Given the description of an element on the screen output the (x, y) to click on. 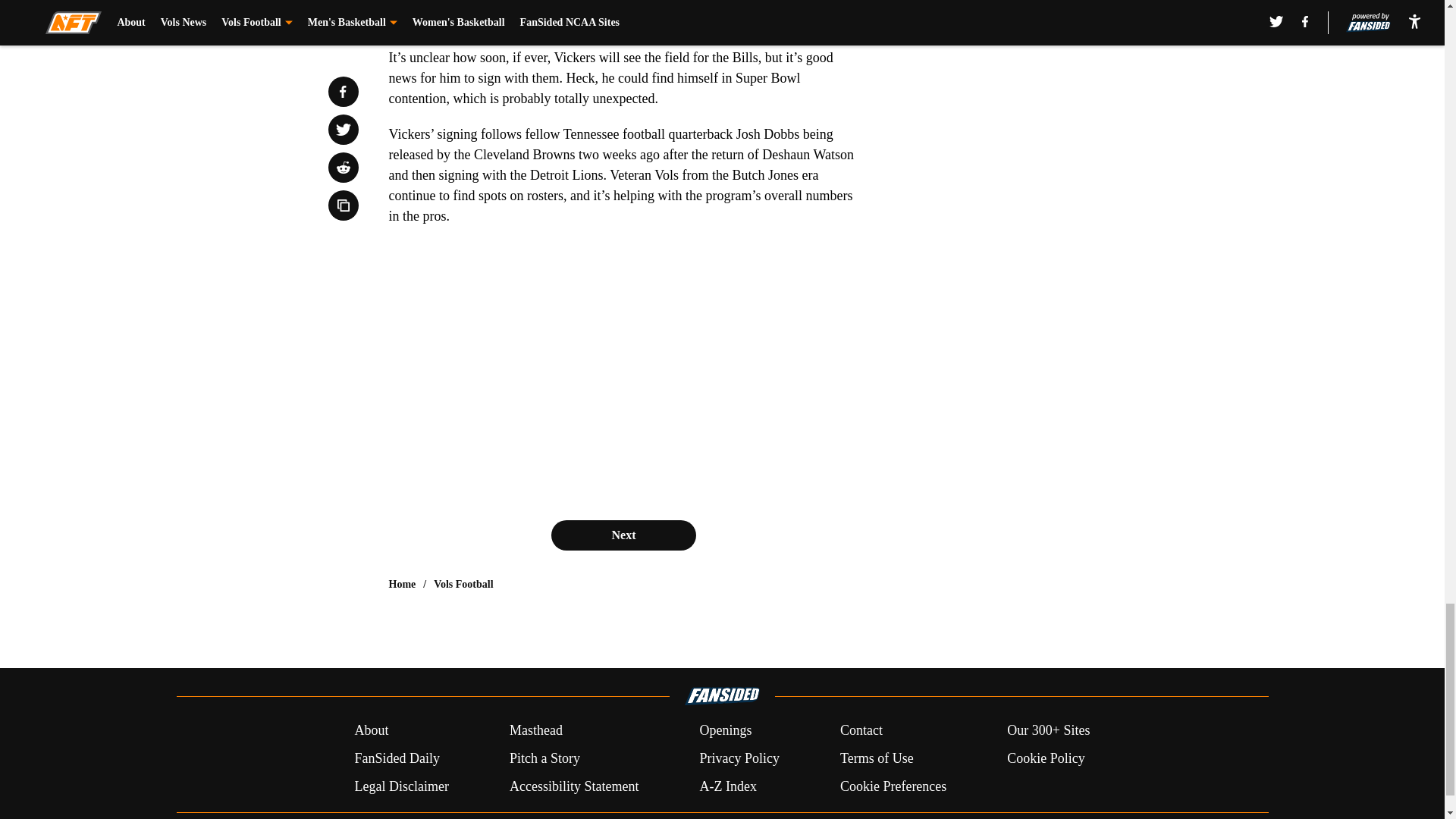
Vols Football (463, 584)
Next (622, 535)
About (370, 730)
Contact (861, 730)
FanSided Daily (396, 758)
Openings (724, 730)
Pitch a Story (544, 758)
Home (401, 584)
Masthead (535, 730)
